Given the description of an element on the screen output the (x, y) to click on. 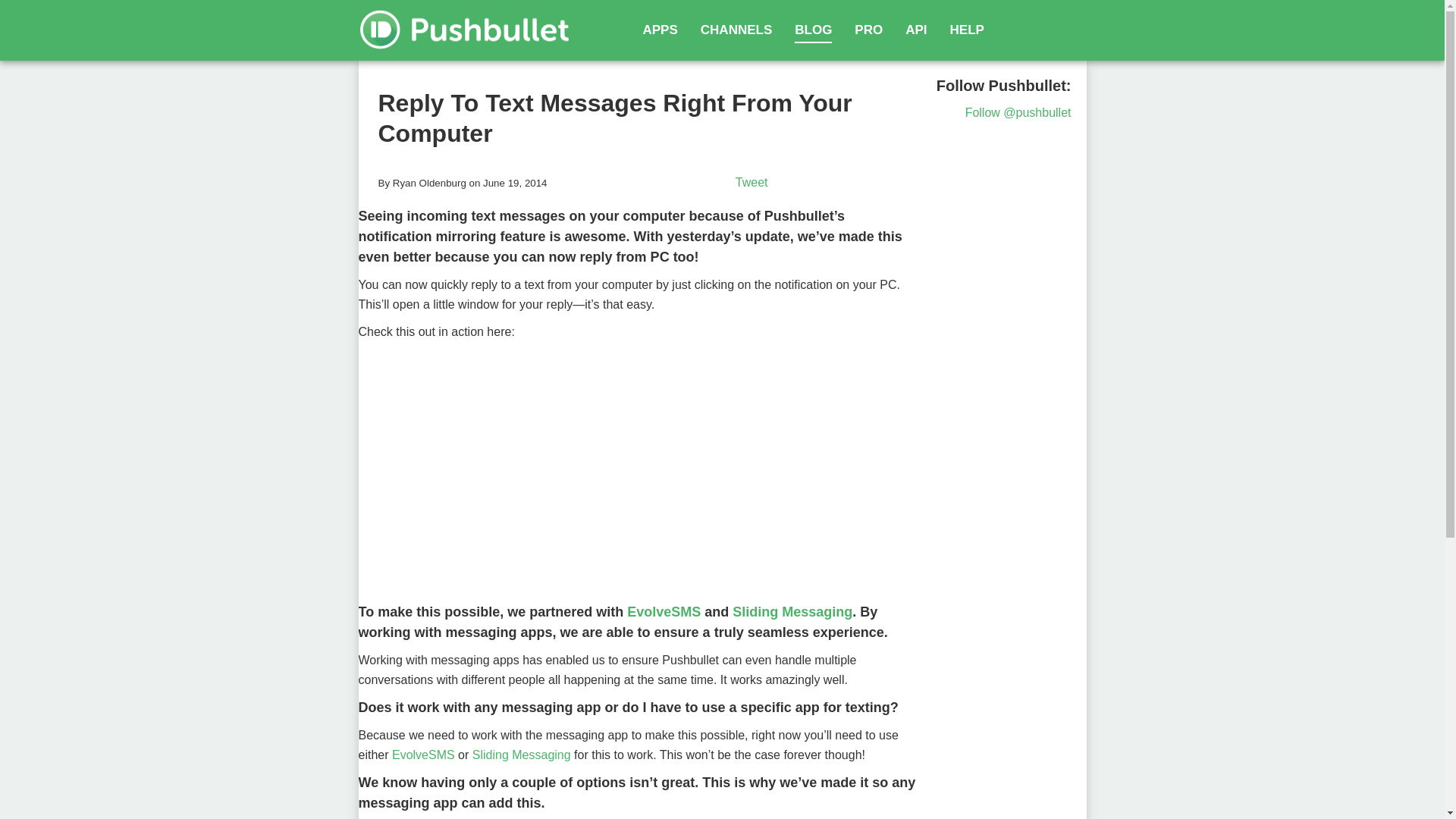
HELP (967, 30)
BLOG (812, 30)
EvolveSMS (422, 754)
APPS (660, 30)
Tweet (751, 182)
EvolveSMS (663, 611)
PRO (868, 30)
Sliding Messaging (520, 754)
Sliding Messaging (791, 611)
CHANNELS (735, 30)
